Given the description of an element on the screen output the (x, y) to click on. 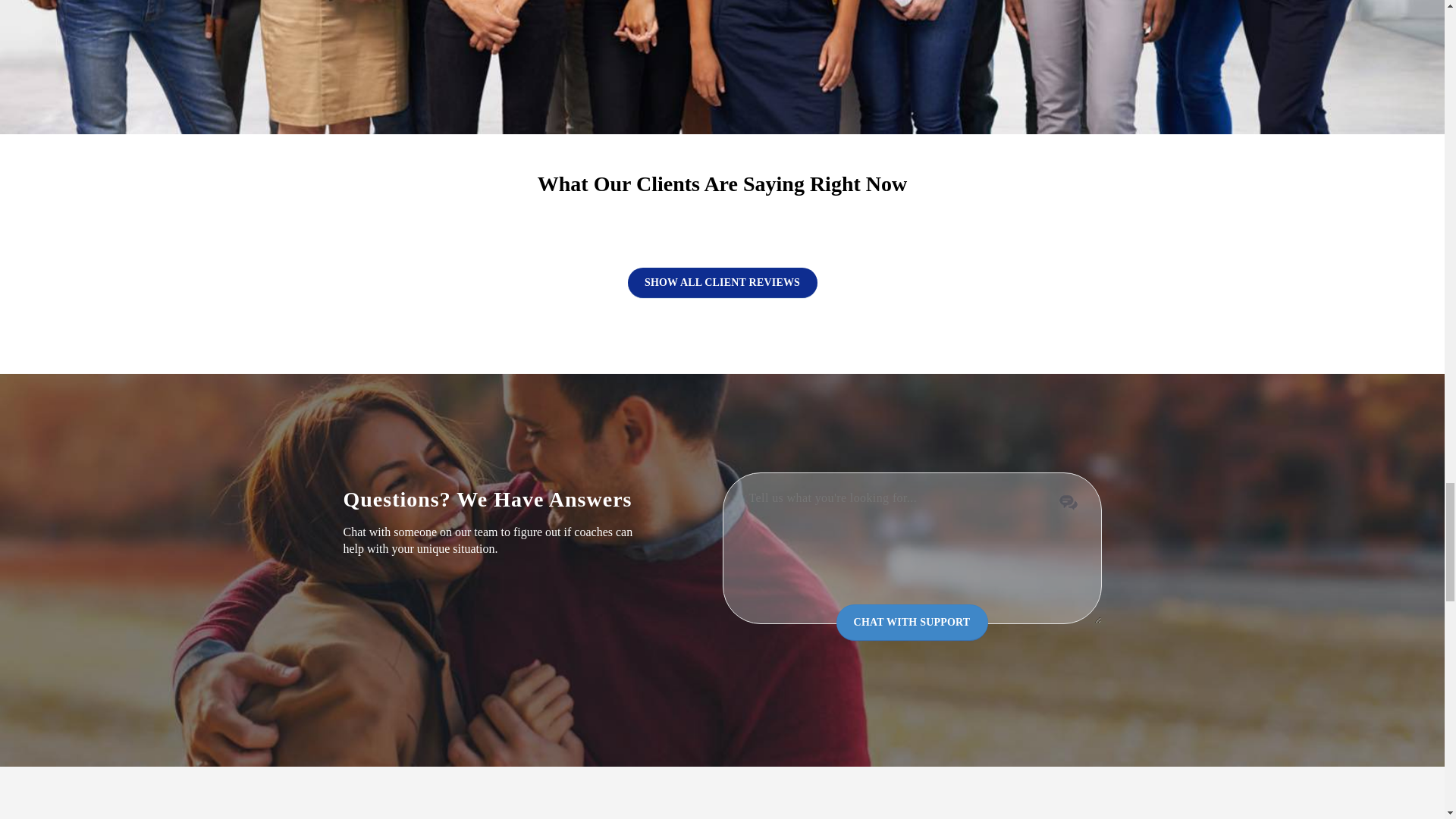
SHOW ALL CLIENT REVIEWS (721, 271)
CHAT WITH SUPPORT (911, 622)
SHOW ALL CLIENT REVIEWS (721, 282)
